Given the description of an element on the screen output the (x, y) to click on. 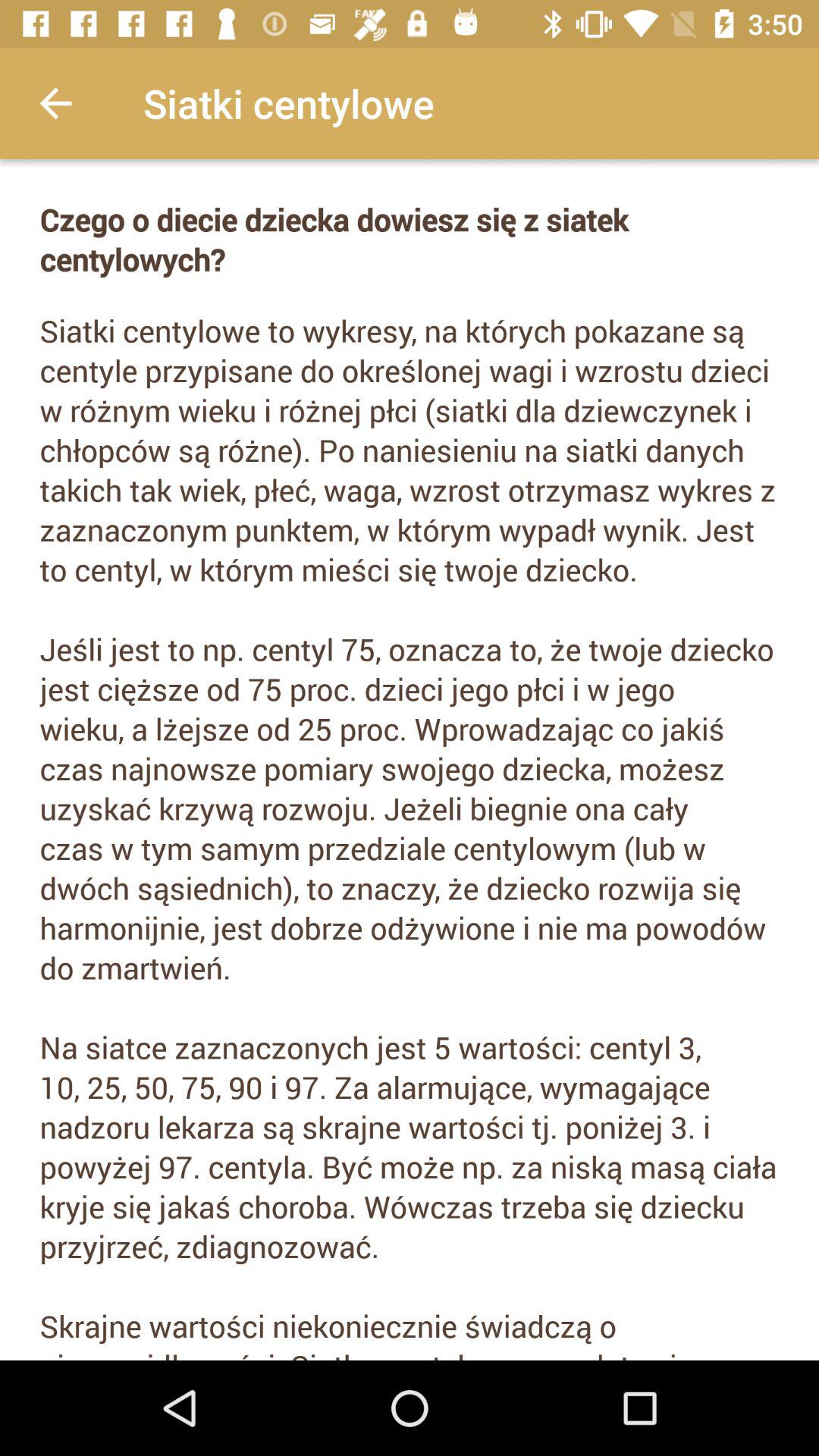
tap item above czego o diecie item (55, 103)
